Given the description of an element on the screen output the (x, y) to click on. 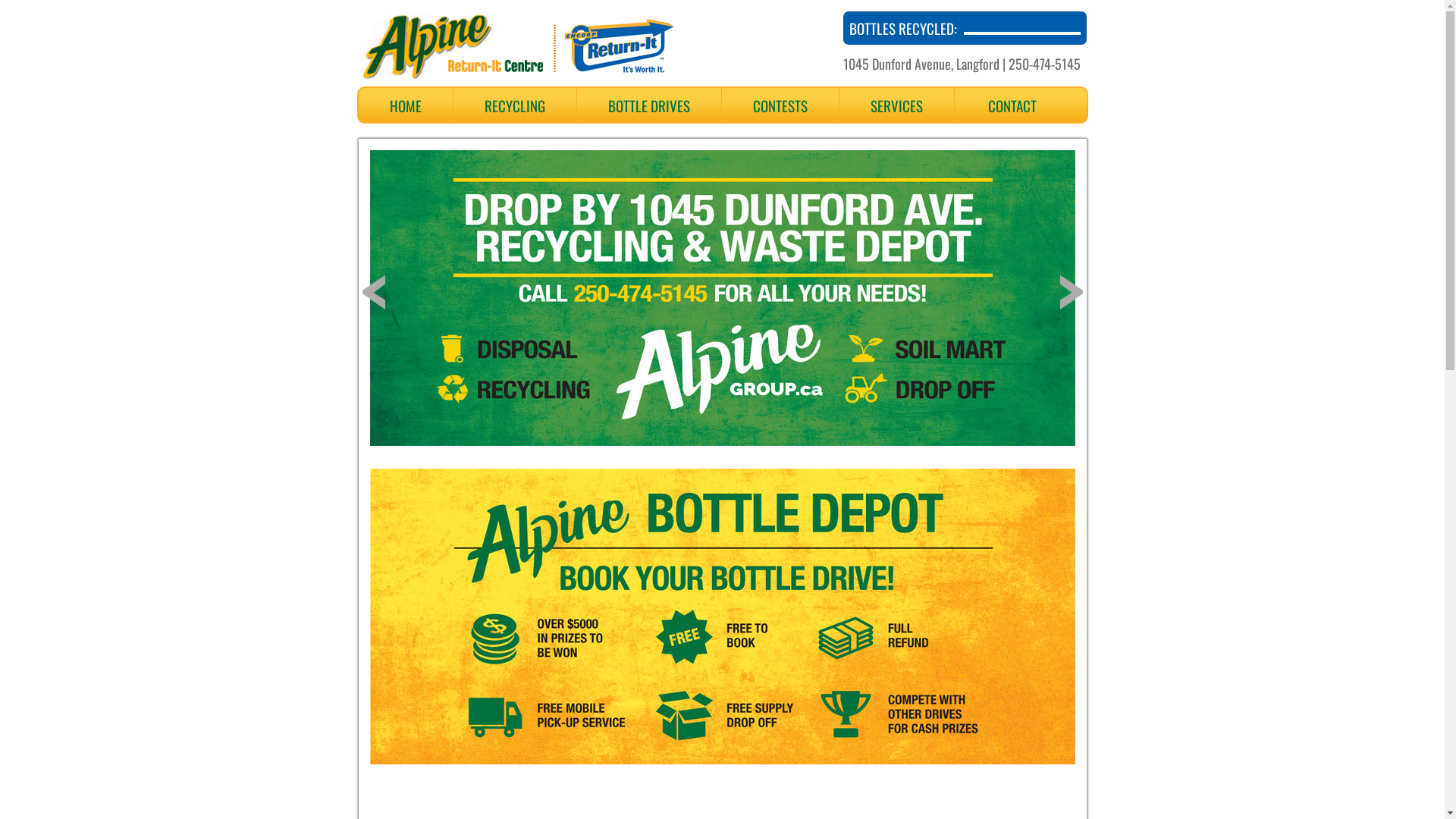
RECYCLING Element type: text (514, 104)
HOME Element type: text (404, 104)
SERVICES Element type: text (895, 104)
BOTTLE DRIVES Element type: text (648, 104)
CONTACT Element type: text (1011, 104)
CONTESTS Element type: text (779, 104)
